Given the description of an element on the screen output the (x, y) to click on. 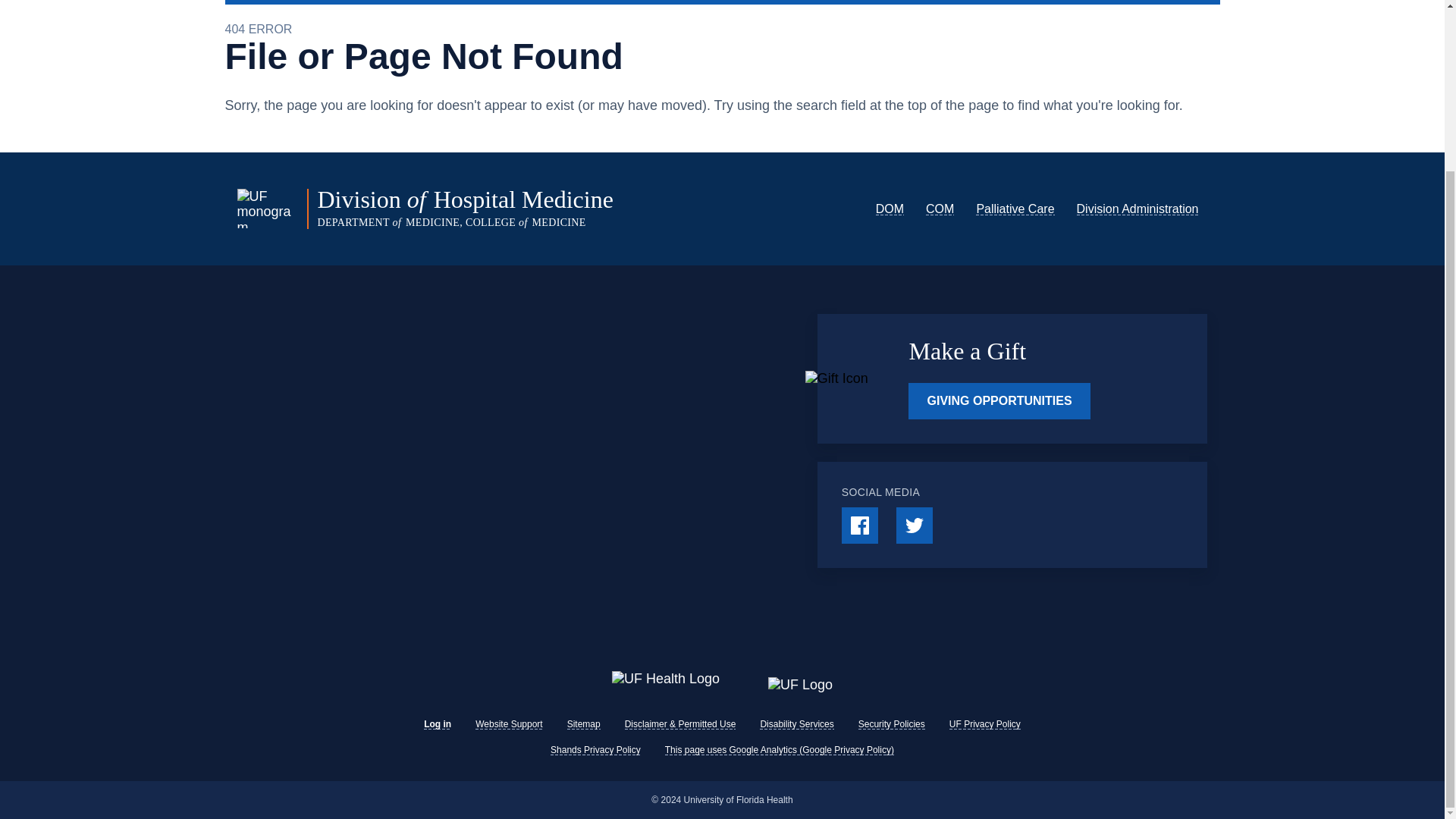
Shands Privacy Policy (595, 749)
University of Florida - Home (800, 684)
Resources (561, 2)
Shands Privacy Policy (595, 749)
Palliative Care (1014, 208)
Log in (437, 724)
UF Privacy Policy (984, 724)
Secure Logins (807, 2)
Website Support (509, 724)
Twitter (914, 524)
